Given the description of an element on the screen output the (x, y) to click on. 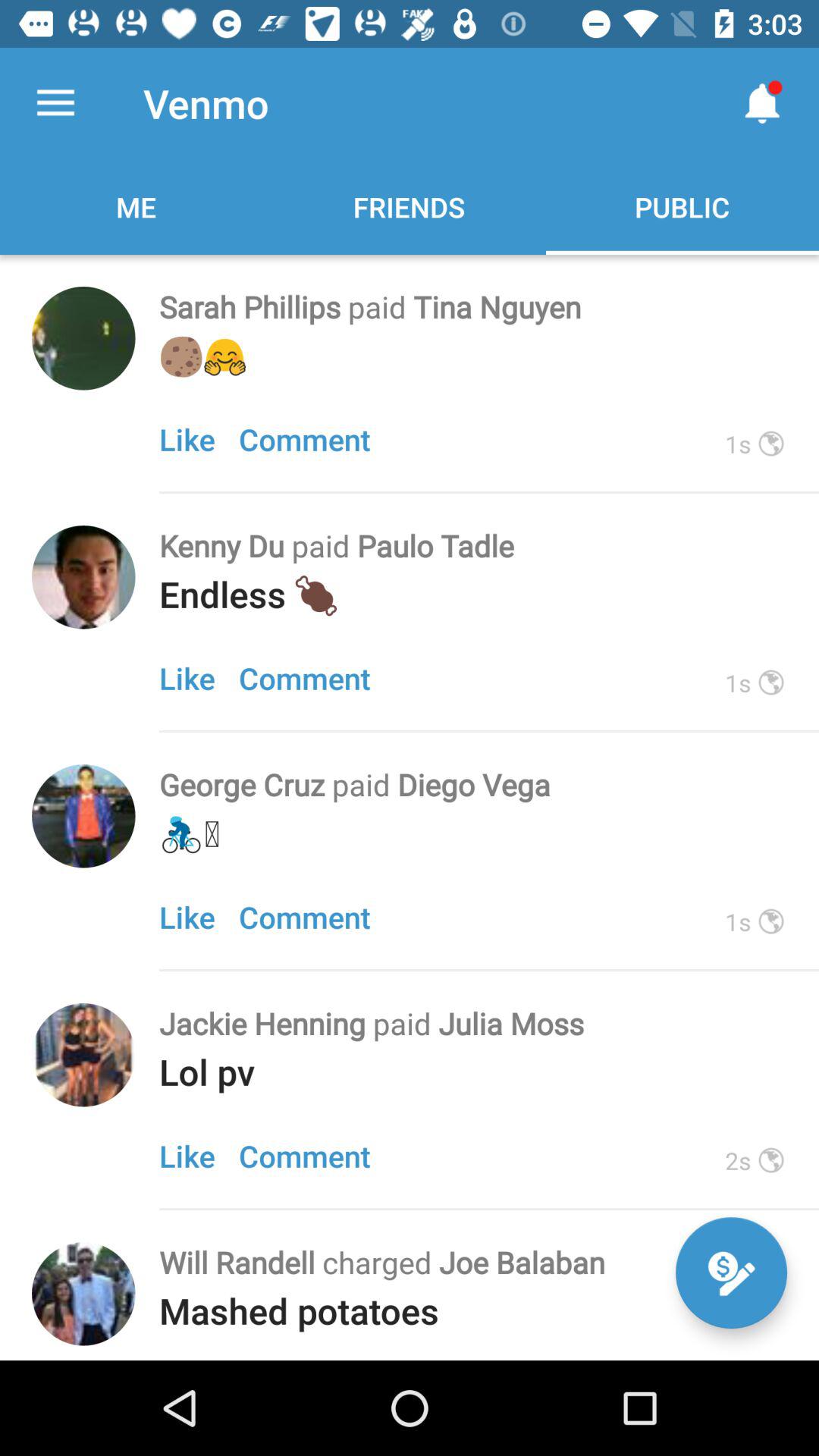
profile picture of the user (83, 338)
